Given the description of an element on the screen output the (x, y) to click on. 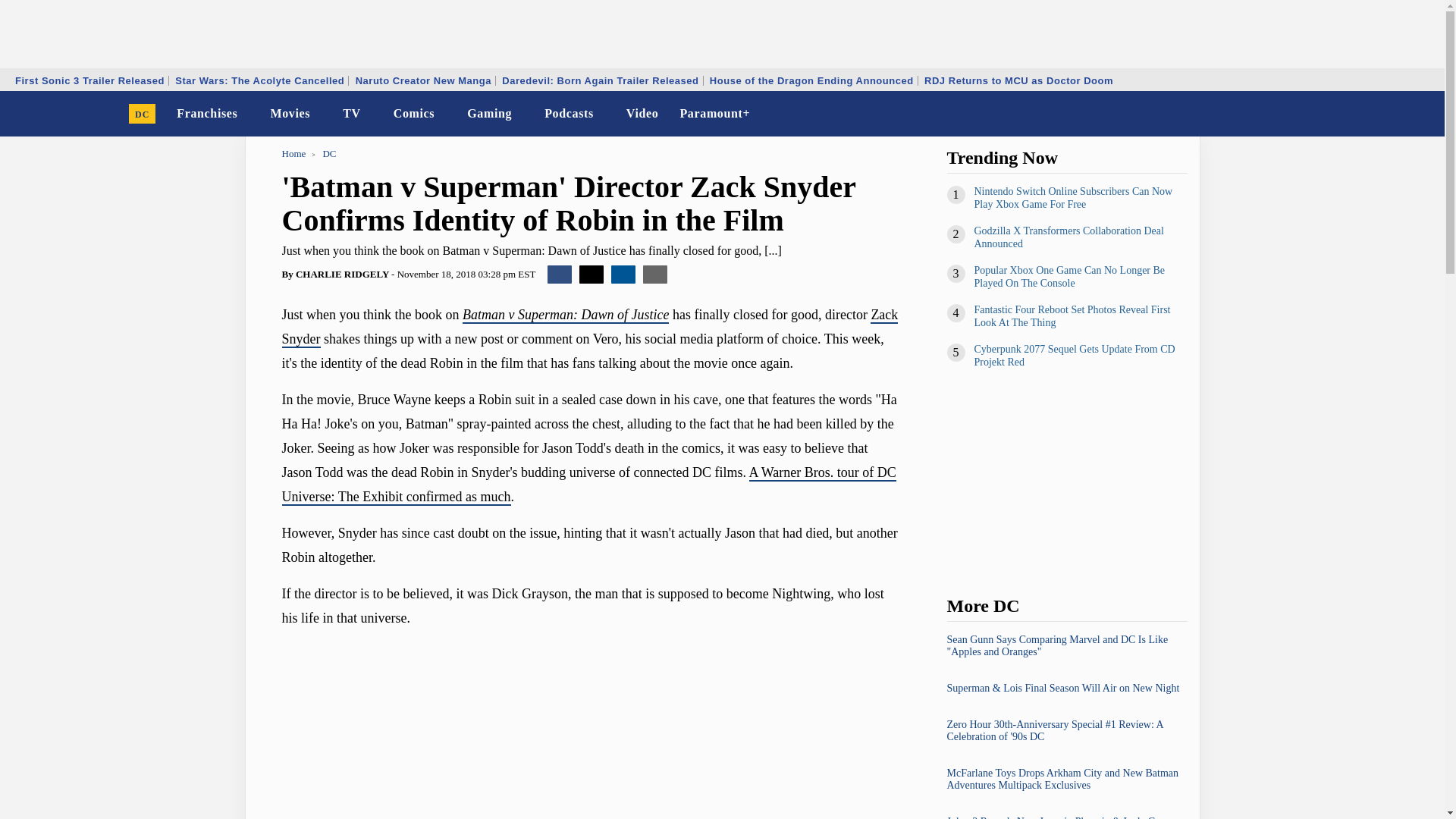
Comics (414, 113)
House of the Dragon Ending Announced (811, 80)
Naruto Creator New Manga (423, 80)
First Sonic 3 Trailer Released (89, 80)
Daredevil: Born Again Trailer Released (599, 80)
Dark Mode (1394, 113)
Star Wars: The Acolyte Cancelled (259, 80)
Search (1422, 114)
RDJ Returns to MCU as Doctor Doom (1018, 80)
Movies (289, 113)
